Given the description of an element on the screen output the (x, y) to click on. 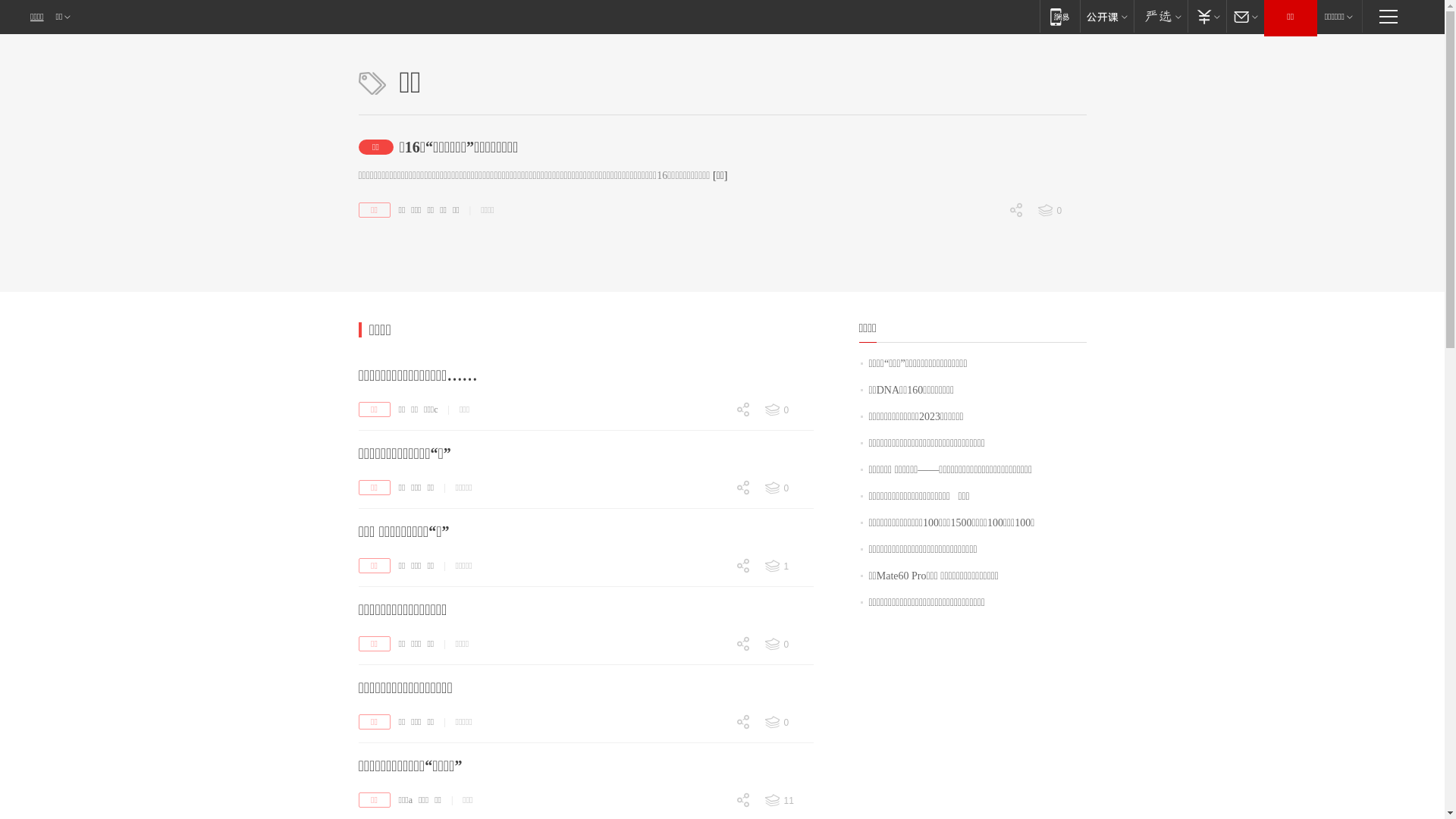
1 Element type: text (787, 566)
0 Element type: text (787, 488)
0 Element type: text (712, 749)
0 Element type: text (1060, 210)
0 Element type: text (712, 671)
0 Element type: text (712, 723)
0 Element type: text (985, 316)
0 Element type: text (787, 644)
0 Element type: text (712, 748)
0 Element type: text (712, 489)
0 Element type: text (712, 670)
0 Element type: text (712, 645)
0 Element type: text (712, 436)
0 Element type: text (712, 515)
0 Element type: text (712, 567)
0 Element type: text (985, 289)
11 Element type: text (787, 800)
0 Element type: text (787, 722)
0 Element type: text (712, 801)
0 Element type: text (712, 592)
0 Element type: text (985, 236)
0 Element type: text (787, 409)
0 Element type: text (712, 593)
0 Element type: text (712, 514)
